Given the description of an element on the screen output the (x, y) to click on. 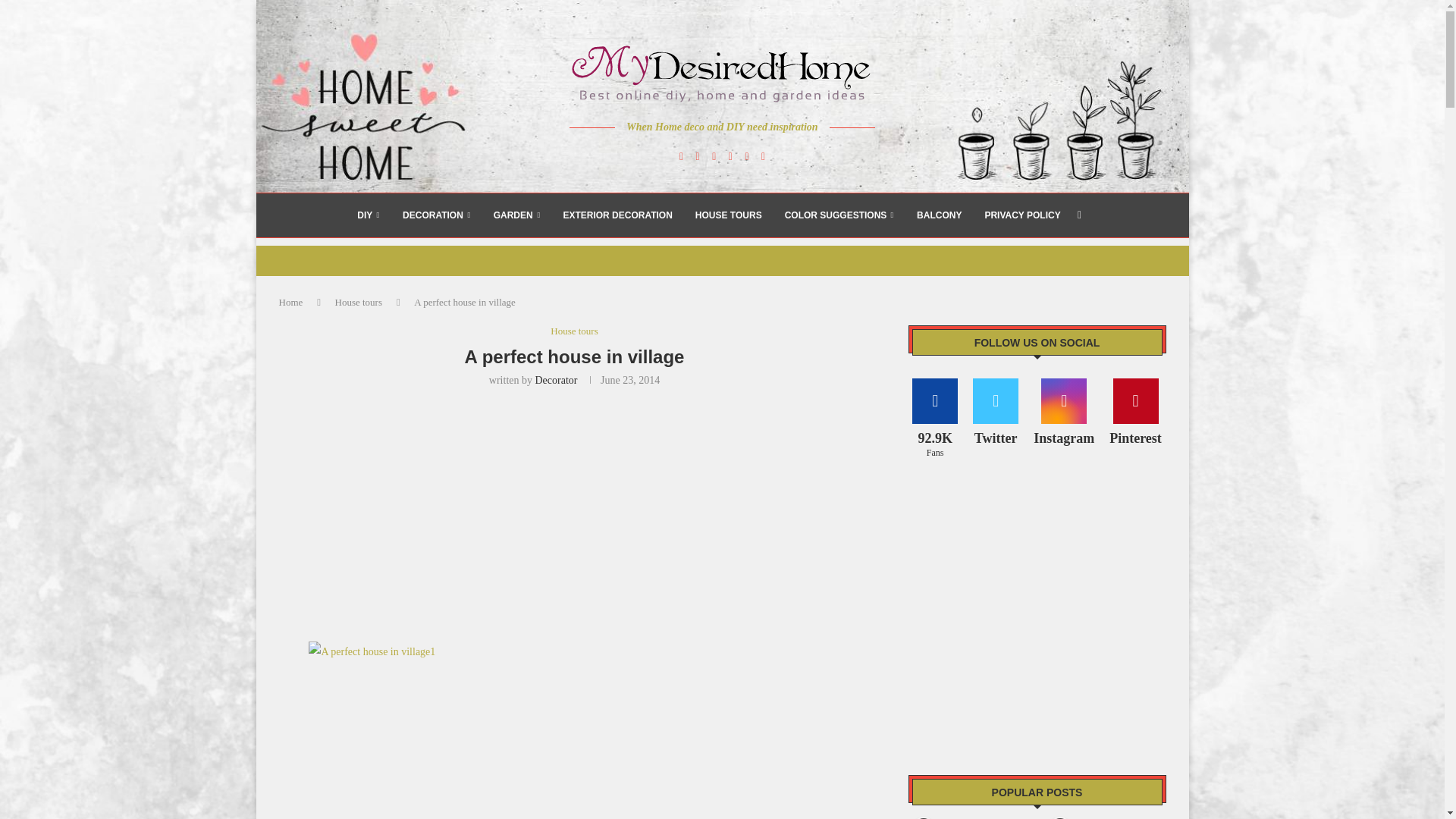
BALCONY (938, 215)
House tours (357, 301)
Decorator (556, 379)
EXTERIOR DECORATION (616, 215)
GARDEN (516, 215)
HOUSE TOURS (728, 215)
DECORATION (436, 215)
House tours (573, 331)
PRIVACY POLICY (1021, 215)
Home (290, 301)
DIY (368, 215)
COLOR SUGGESTIONS (838, 215)
